Given the description of an element on the screen output the (x, y) to click on. 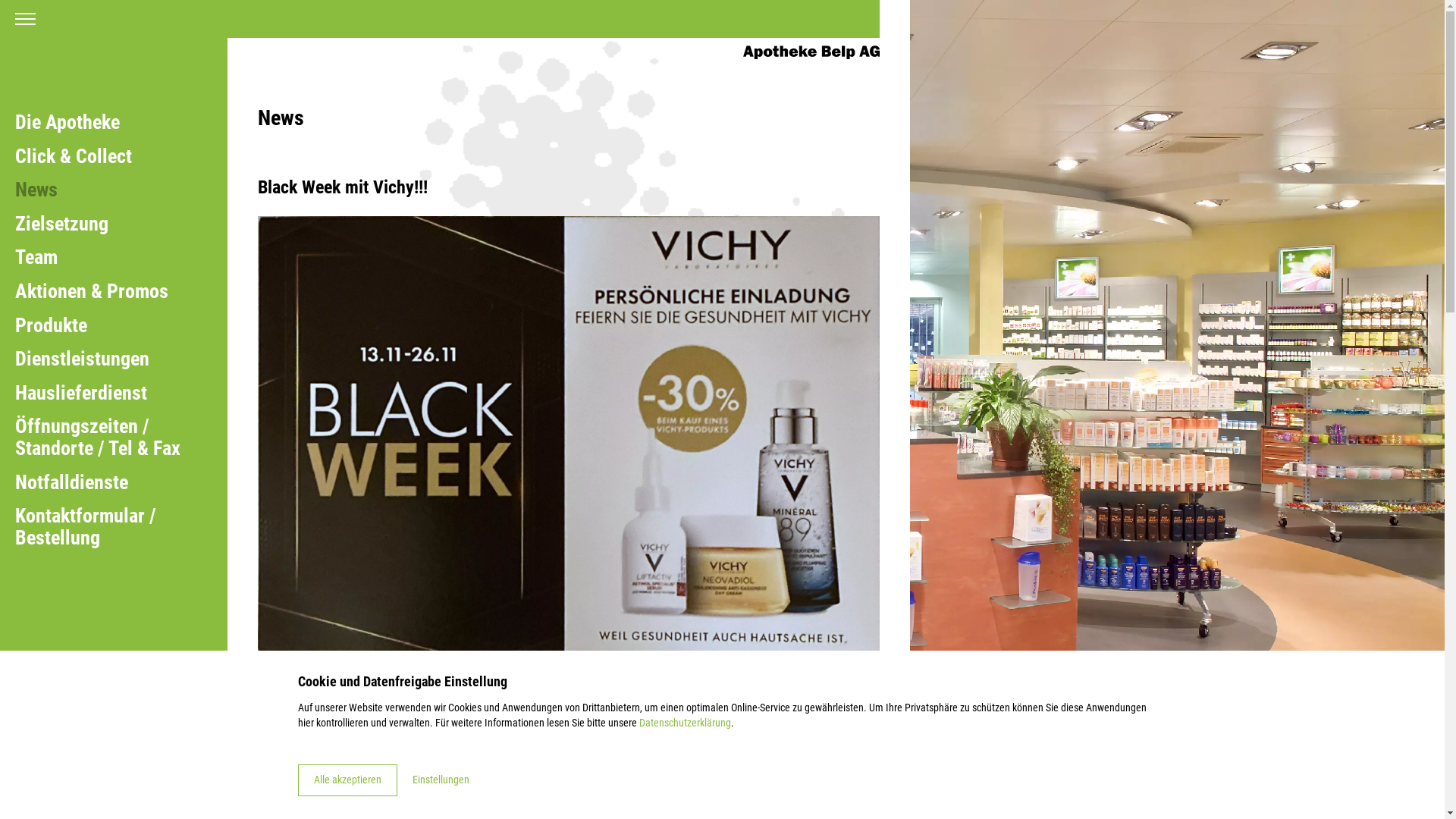
Zielsetzung Element type: text (106, 224)
Apotheke Belp Element type: hover (811, 52)
Team Element type: text (106, 257)
Aktionen & Promos Element type: text (106, 291)
Einstellungen Element type: text (440, 779)
Produkte Element type: text (106, 325)
be.vacme.ch Element type: text (435, 763)
Alle akzeptieren Element type: text (346, 780)
Hauslieferdienst Element type: text (106, 393)
Dienstleistungen Element type: text (106, 359)
News Element type: text (106, 189)
Click & Collect Element type: text (106, 156)
Kontaktformular / Bestellung Element type: text (106, 526)
Auffrischungsimpfung & Grundimmunisierung Element type: text (426, 708)
Notfalldienste Element type: text (106, 482)
Die Apotheke Element type: text (106, 122)
